Given the description of an element on the screen output the (x, y) to click on. 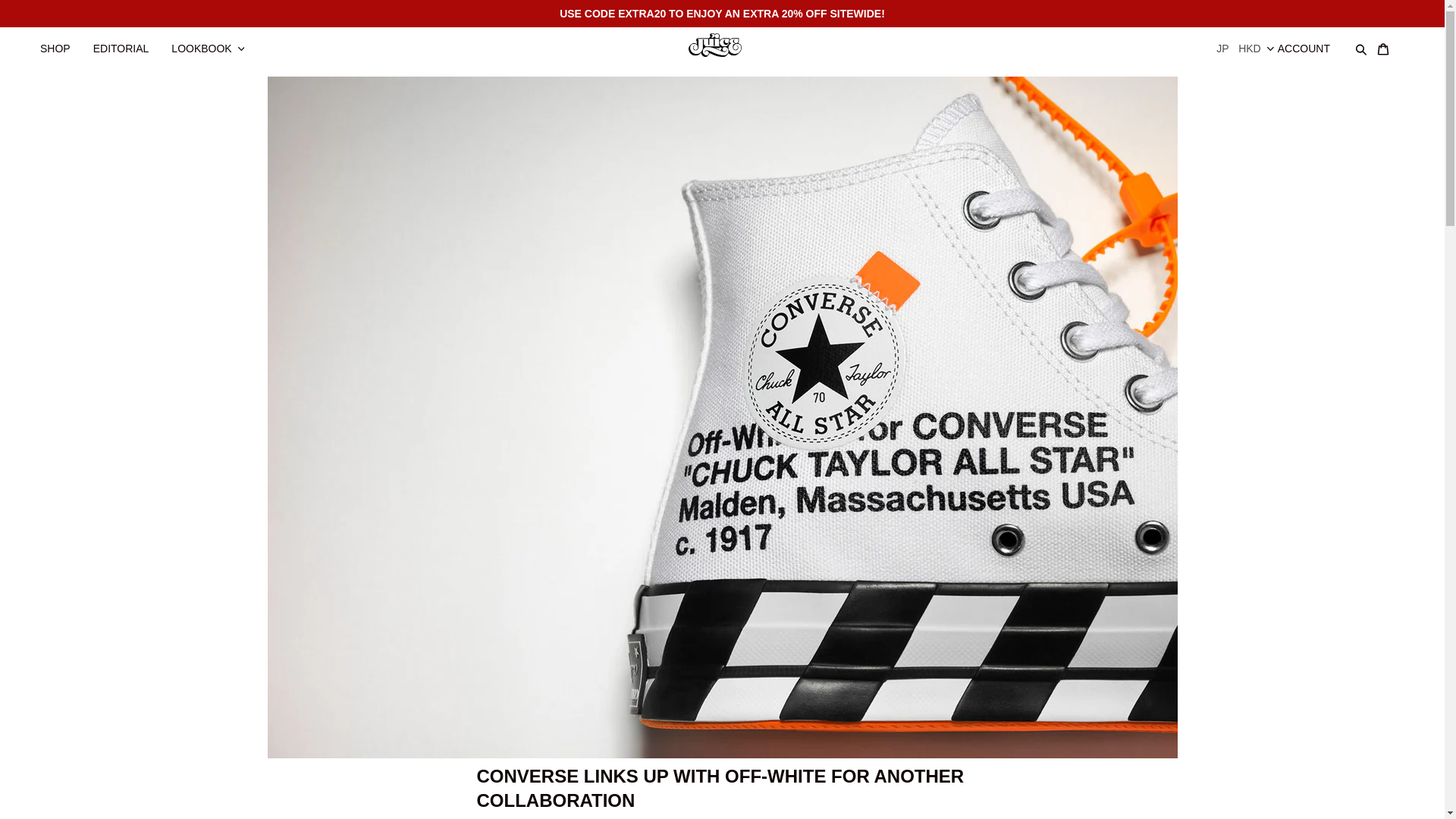
EDITORIAL (128, 41)
ACCOUNT (1311, 41)
CART (1390, 41)
JUICESTORE (722, 43)
SHOP (62, 41)
